Given the description of an element on the screen output the (x, y) to click on. 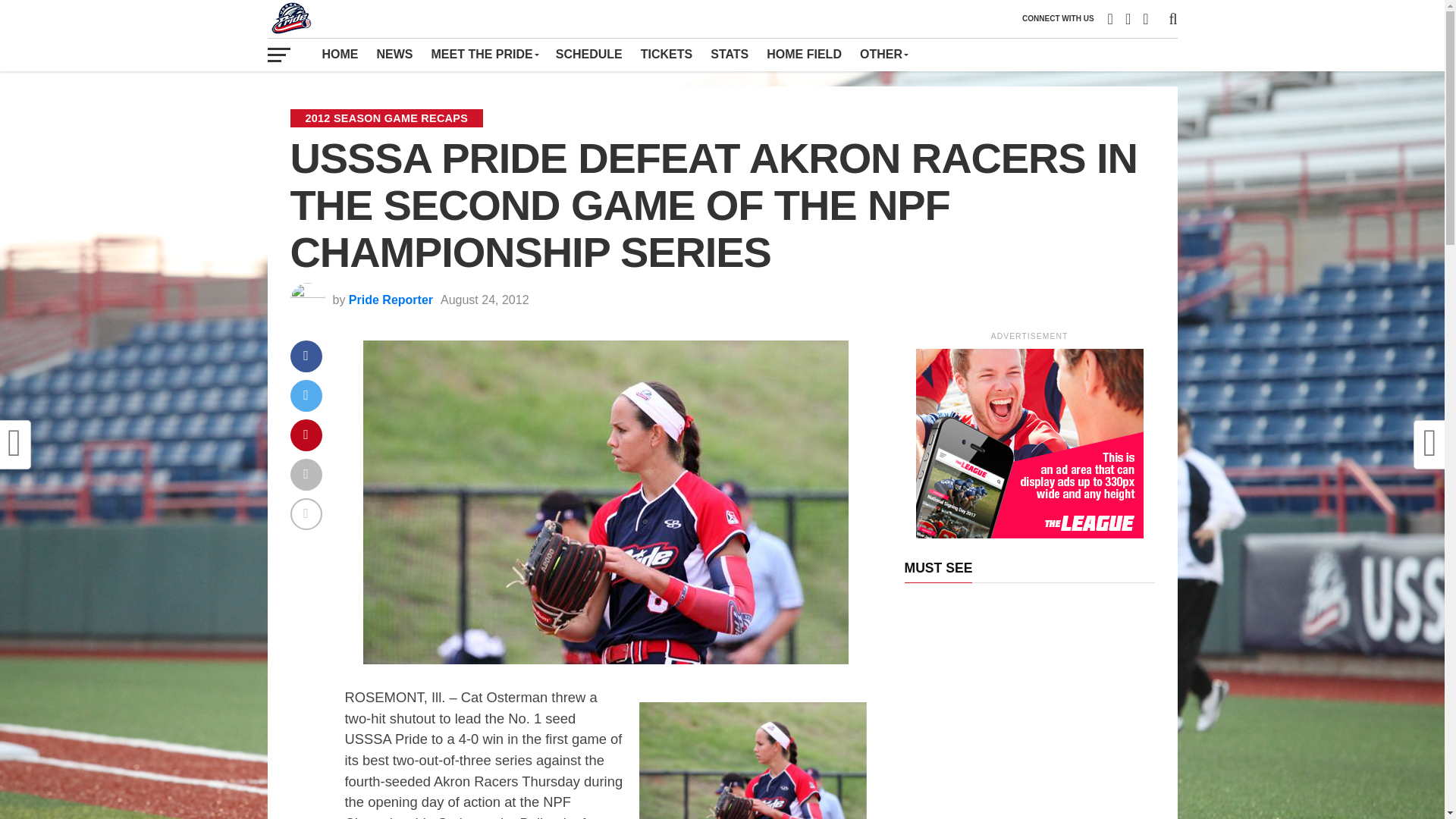
MEET THE PRIDE (484, 54)
STATS (729, 54)
HOME FIELD (803, 54)
Posts by Pride Reporter (390, 299)
OTHER (882, 54)
NEWS (394, 54)
TICKETS (666, 54)
HOME (339, 54)
SCHEDULE (589, 54)
